Given the description of an element on the screen output the (x, y) to click on. 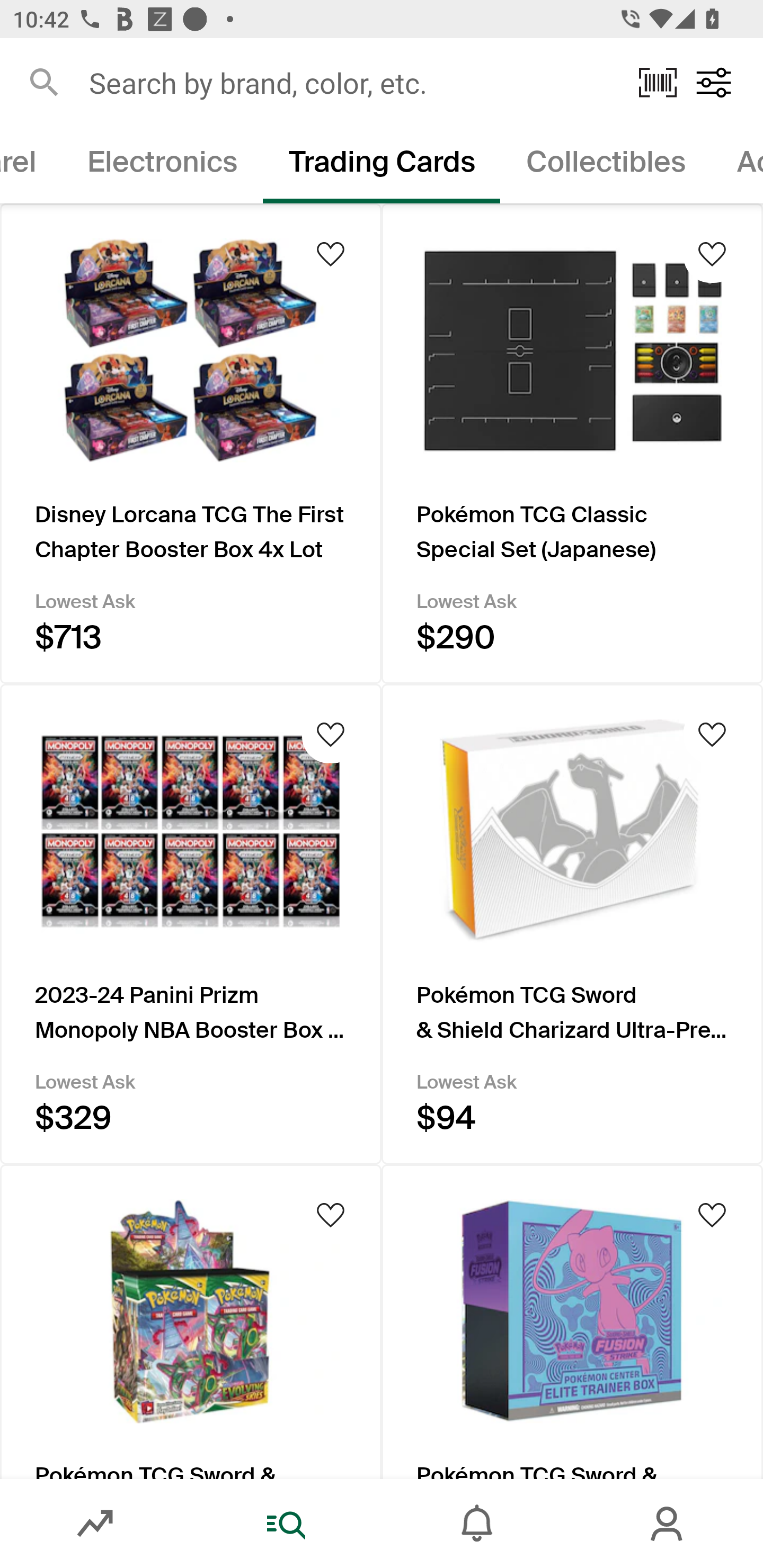
Search by brand, color, etc. (351, 82)
Electronics (161, 165)
Collectibles (605, 165)
Market (95, 1523)
Inbox (476, 1523)
Account (667, 1523)
